Given the description of an element on the screen output the (x, y) to click on. 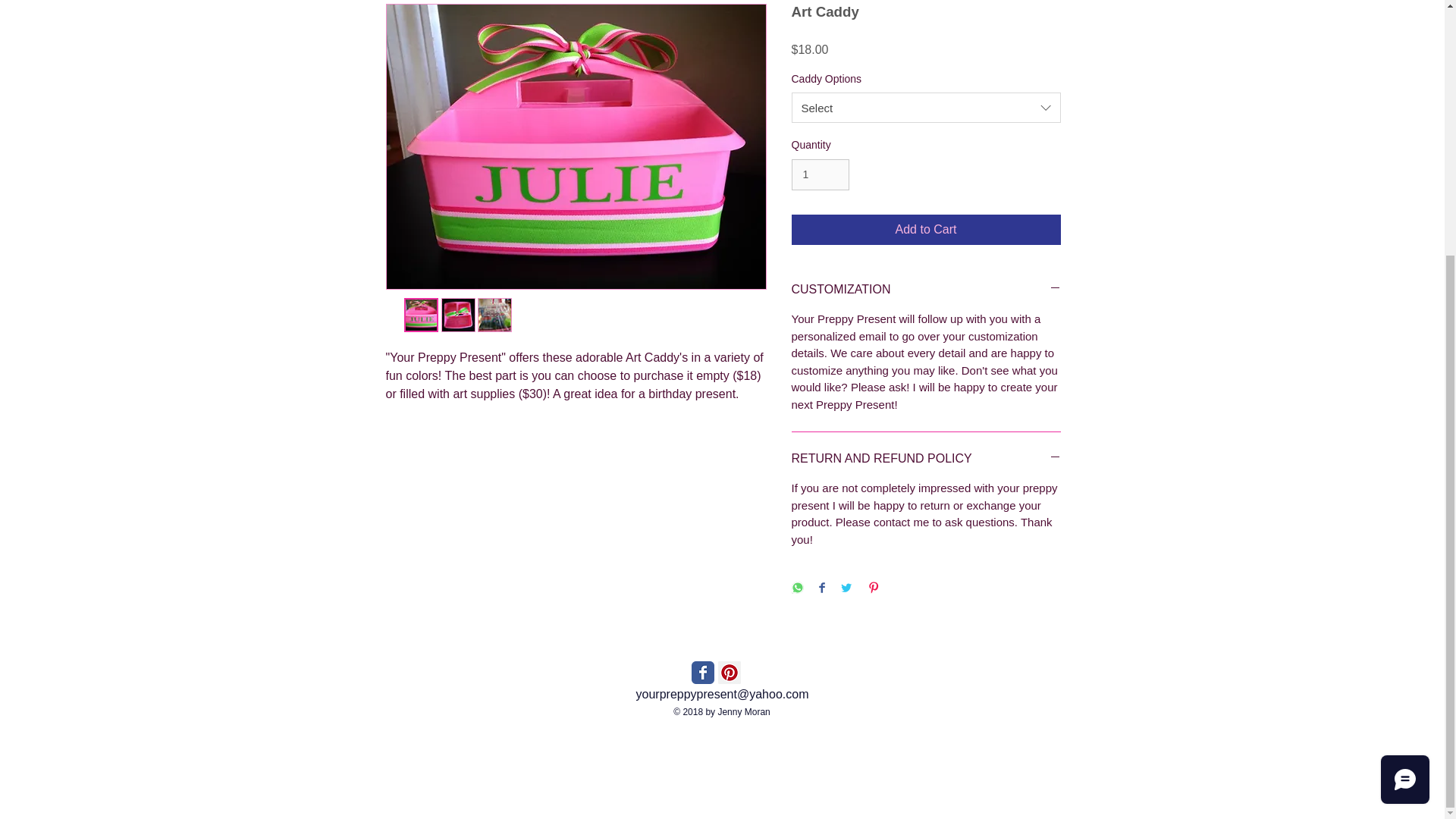
Select (926, 107)
CUSTOMIZATION (926, 289)
Add to Cart (926, 229)
1 (820, 174)
RETURN AND REFUND POLICY (926, 458)
